Given the description of an element on the screen output the (x, y) to click on. 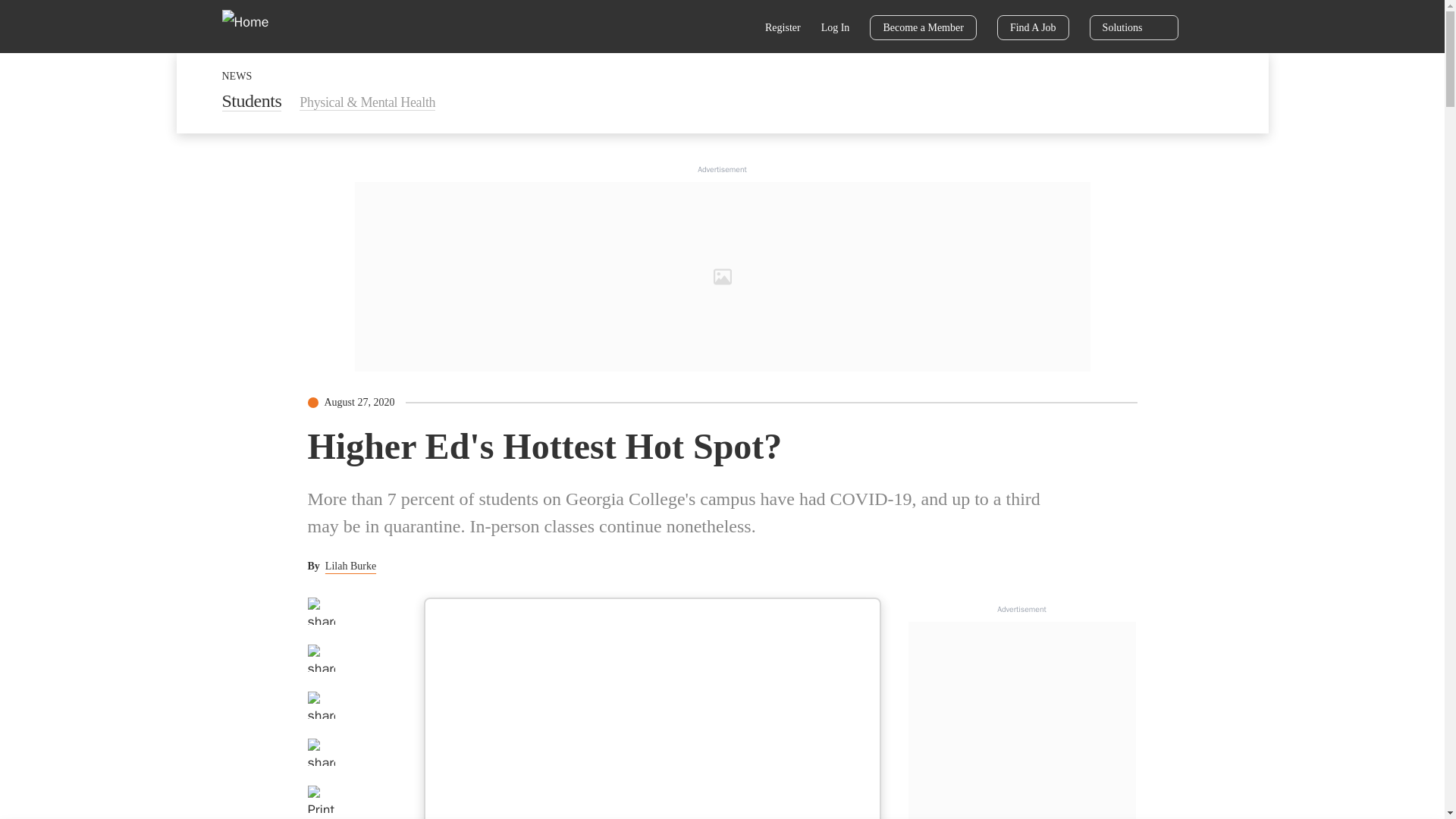
Find A Job (1032, 27)
Home (255, 26)
share to twitter (320, 657)
Become a Member (922, 27)
share by email (320, 751)
share to facebook (320, 610)
share to Linkedin (320, 705)
Search (736, 28)
